Given the description of an element on the screen output the (x, y) to click on. 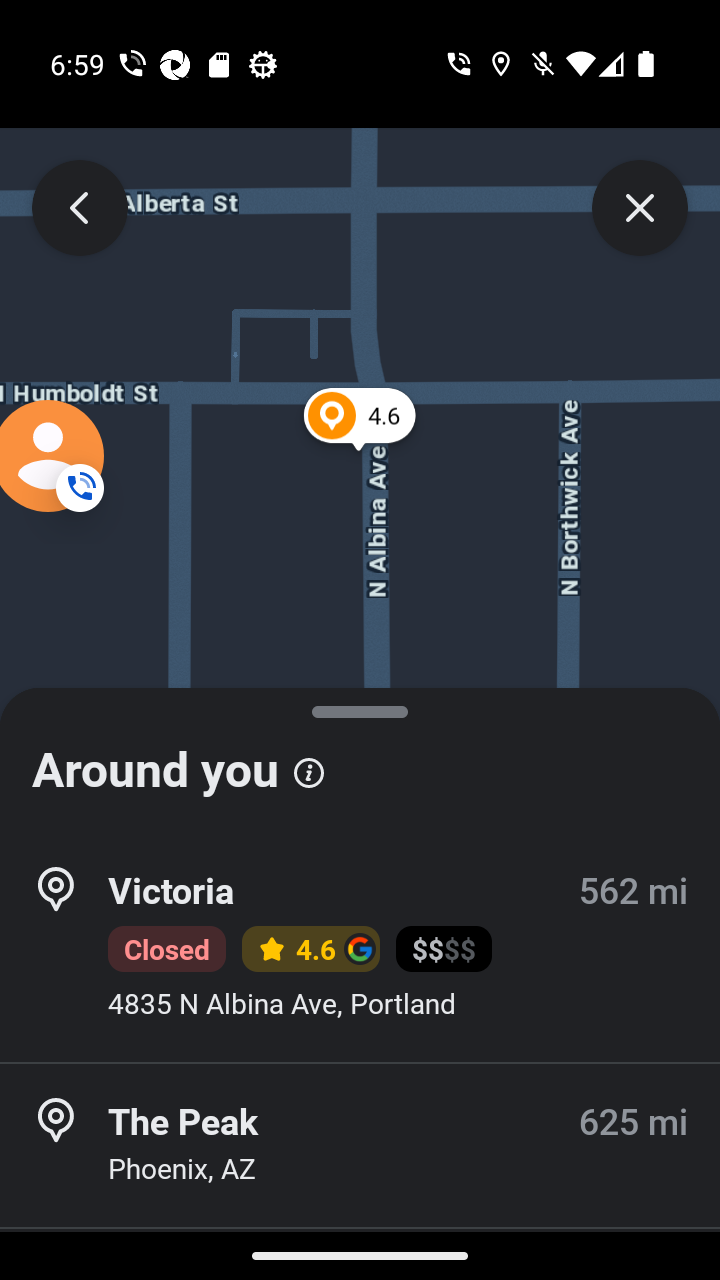
Around you (360, 760)
The Peak 625 mi Phoenix, AZ (360, 1145)
The peak 897 mi (360, 1254)
